Given the description of an element on the screen output the (x, y) to click on. 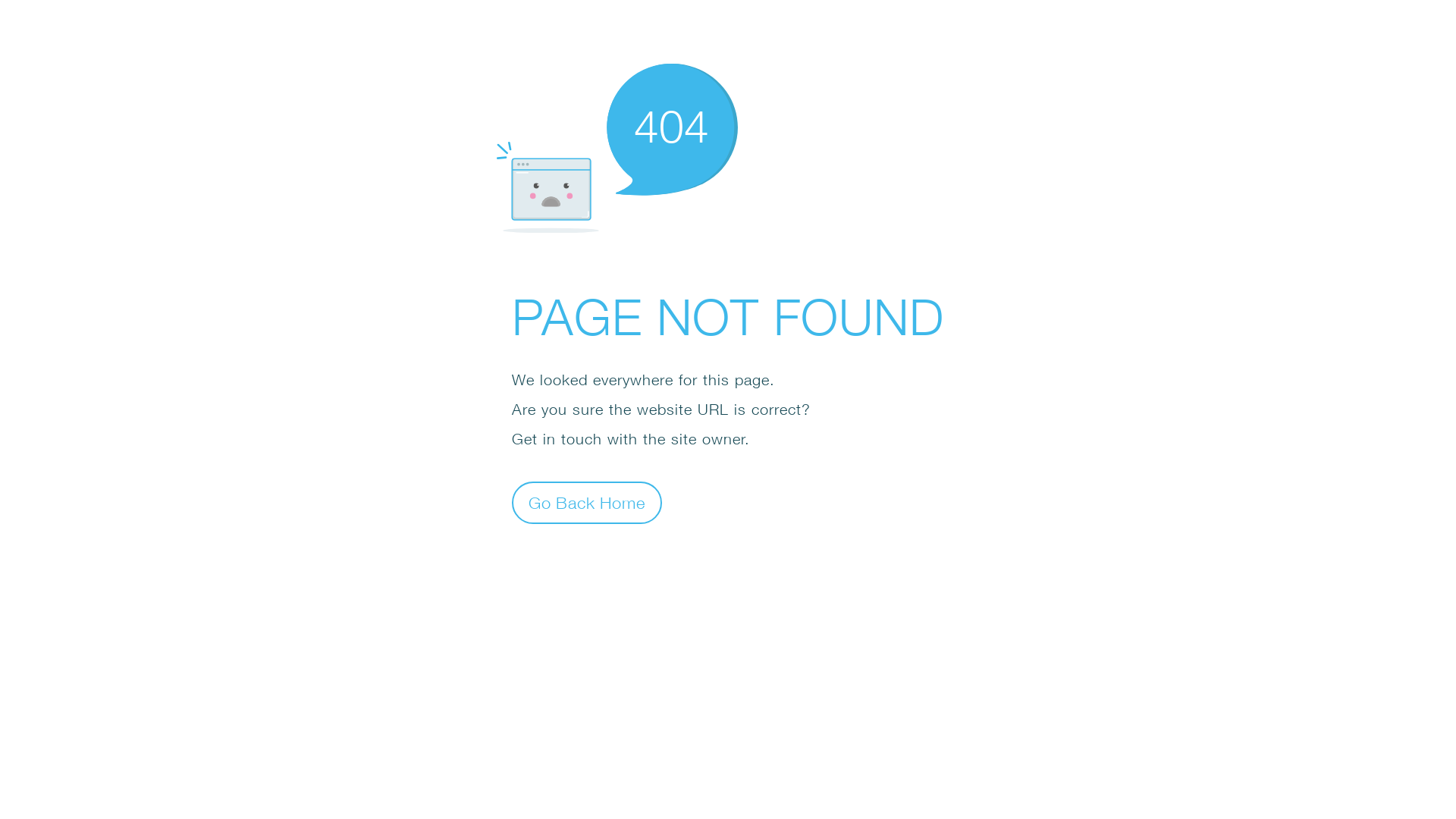
Go Back Home Element type: text (586, 502)
